Given the description of an element on the screen output the (x, y) to click on. 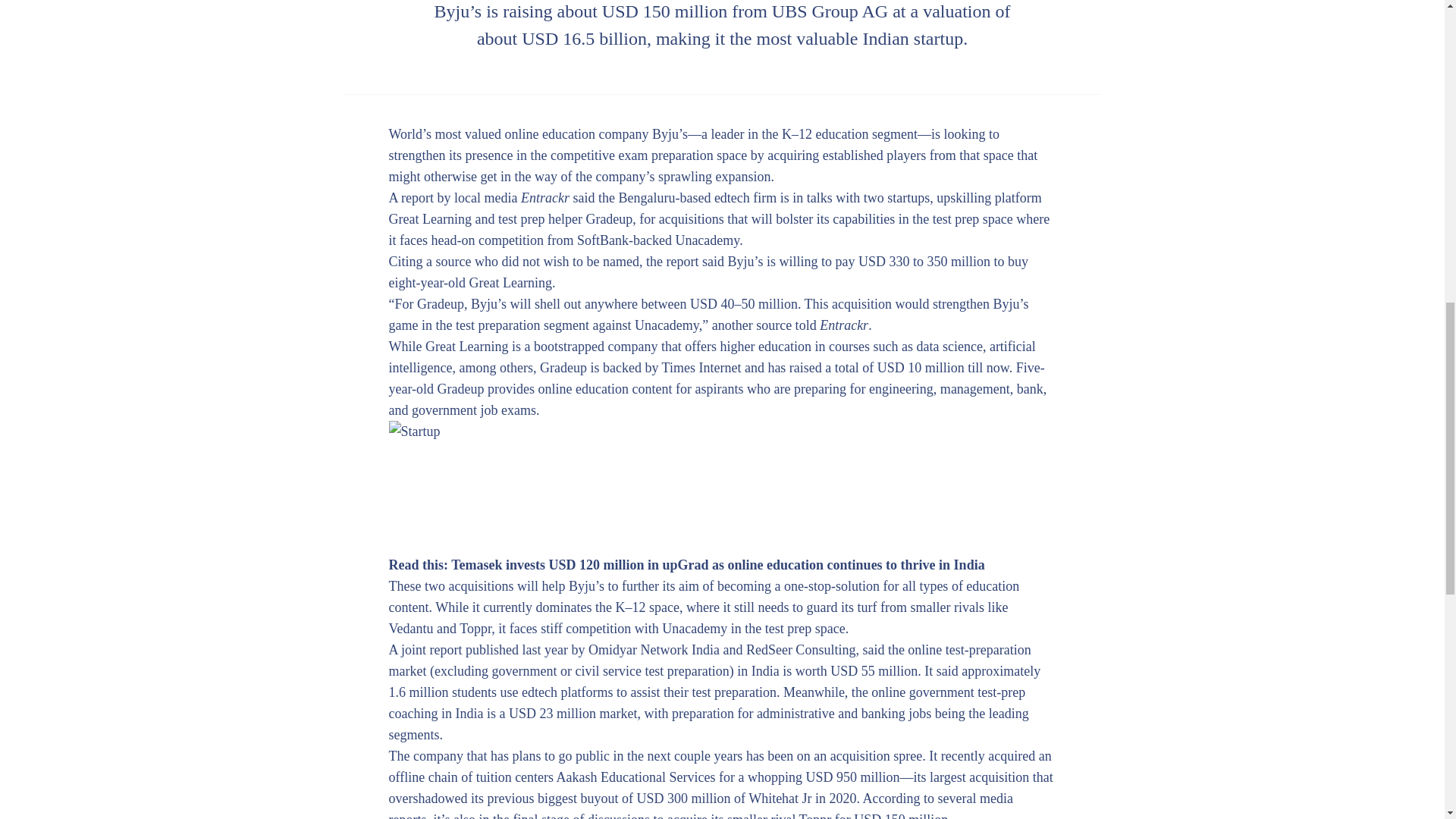
Entrackr (545, 197)
